Given the description of an element on the screen output the (x, y) to click on. 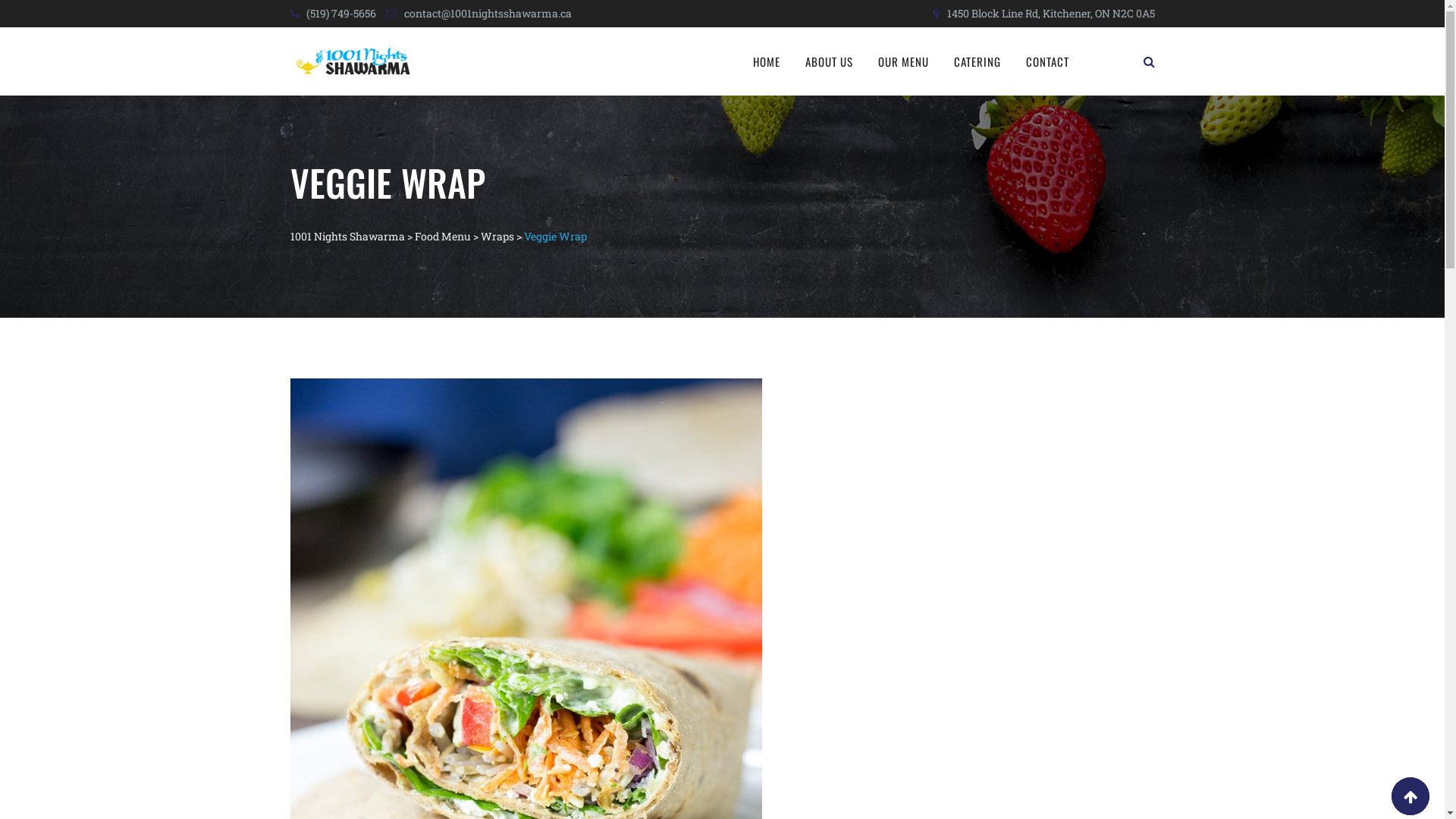
ABOUT US Element type: text (828, 61)
CATERING Element type: text (977, 61)
1001 Nights Shawarma Element type: text (346, 236)
OUR MENU Element type: text (903, 61)
(519) 749-5656 Element type: text (341, 13)
contact@1001nightsshawarma.ca Element type: text (487, 13)
Wraps Element type: text (497, 236)
HOME Element type: text (766, 61)
CONTACT Element type: text (1047, 61)
Food Menu Element type: text (442, 236)
